Given the description of an element on the screen output the (x, y) to click on. 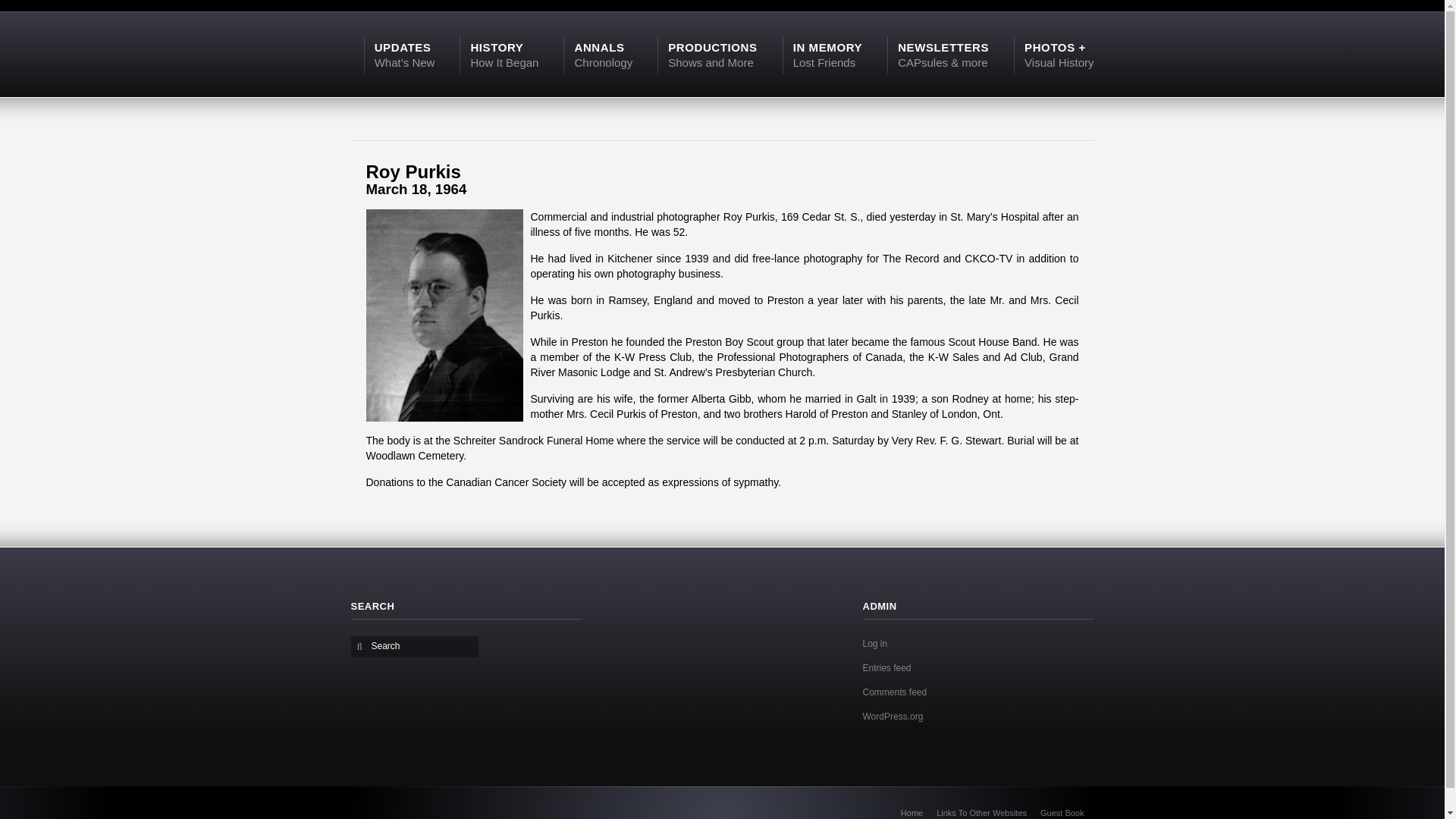
Links To Other Websites (981, 812)
Home (912, 812)
Comments feed (895, 692)
Search (602, 54)
WordPress.org (417, 645)
Entries feed (504, 54)
Log in (893, 716)
Home (887, 667)
